Given the description of an element on the screen output the (x, y) to click on. 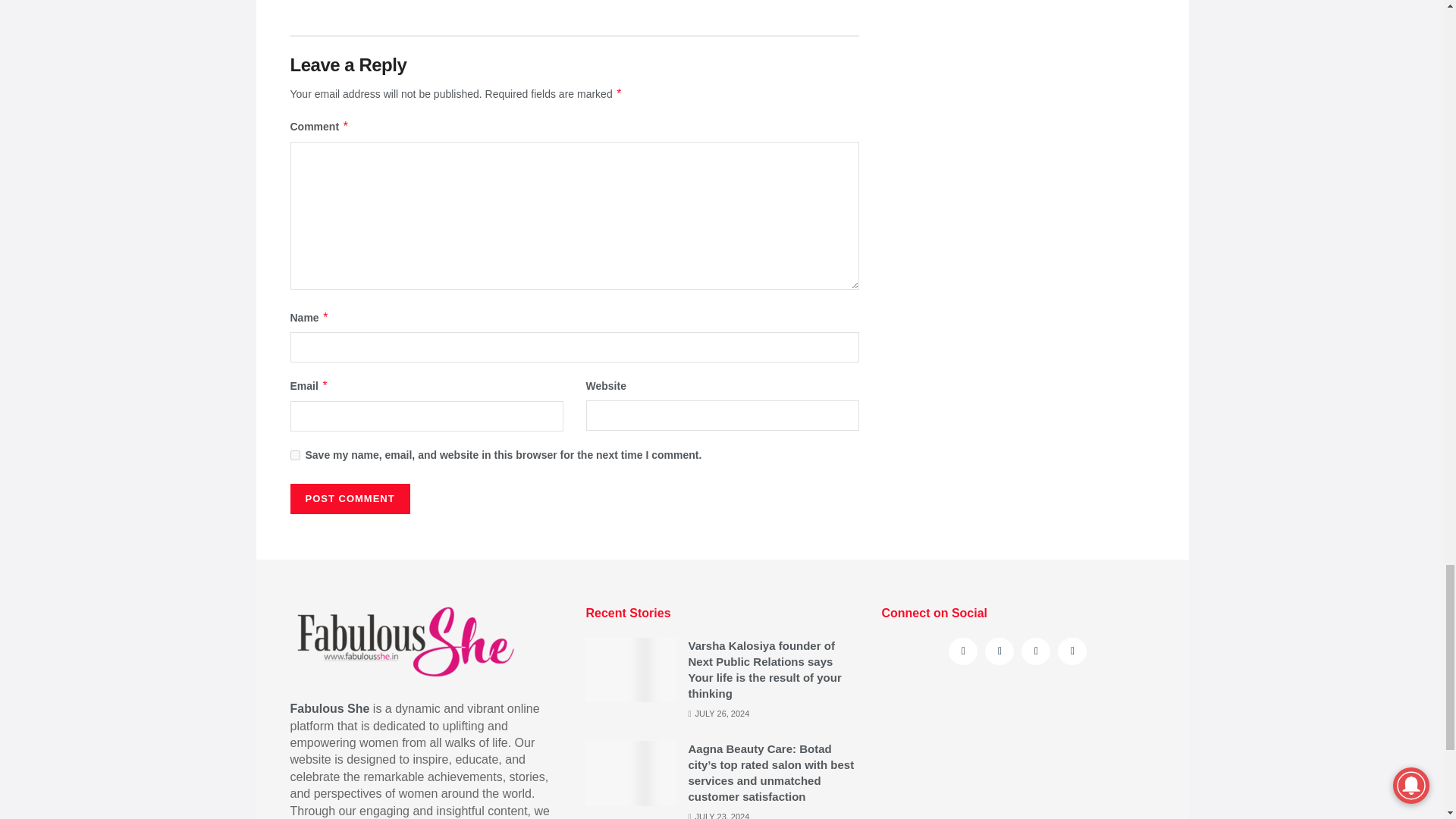
Post Comment (349, 499)
Advertisement (1017, 757)
yes (294, 455)
